Given the description of an element on the screen output the (x, y) to click on. 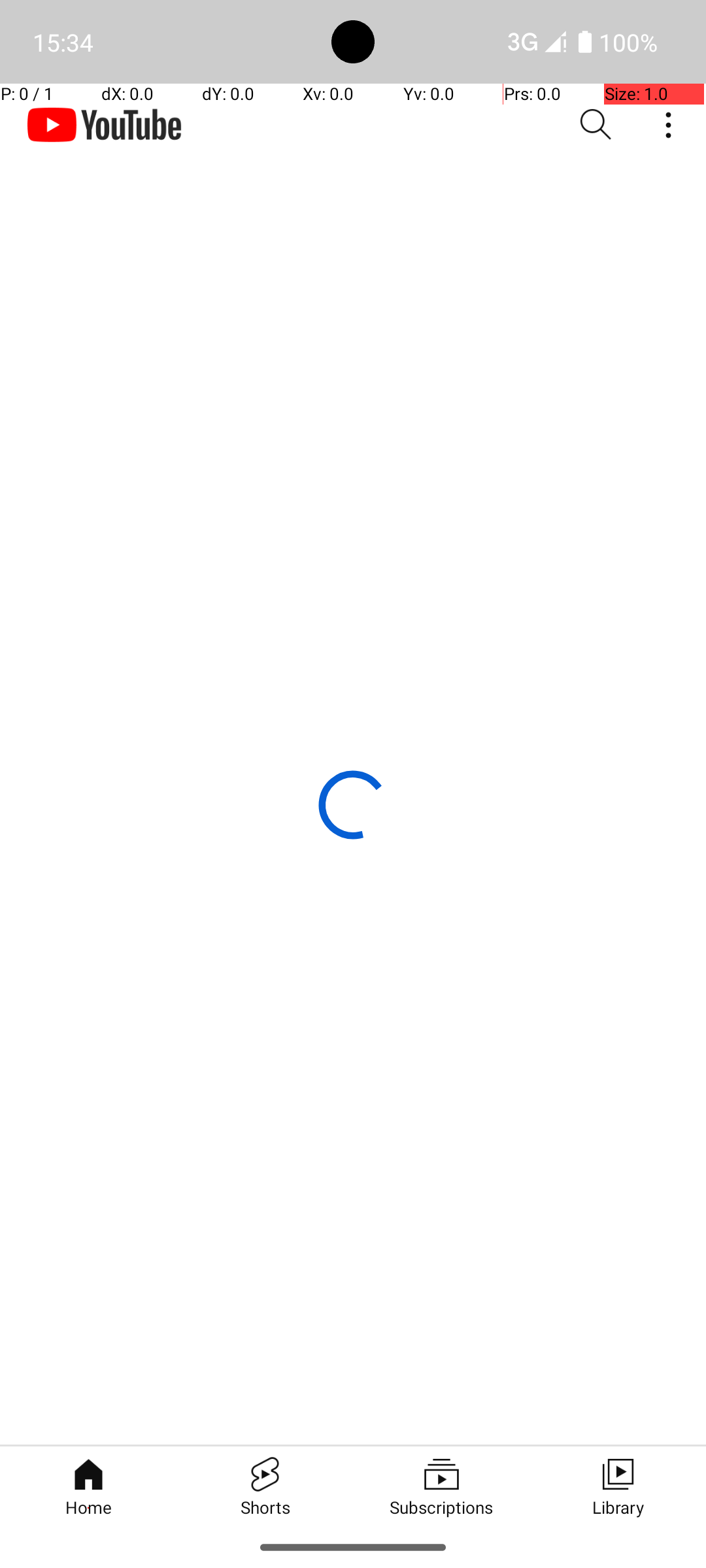
Shorts Element type: android.widget.Button (264, 1485)
Subscriptions Element type: android.widget.Button (441, 1485)
Library Element type: android.widget.Button (617, 1485)
